Given the description of an element on the screen output the (x, y) to click on. 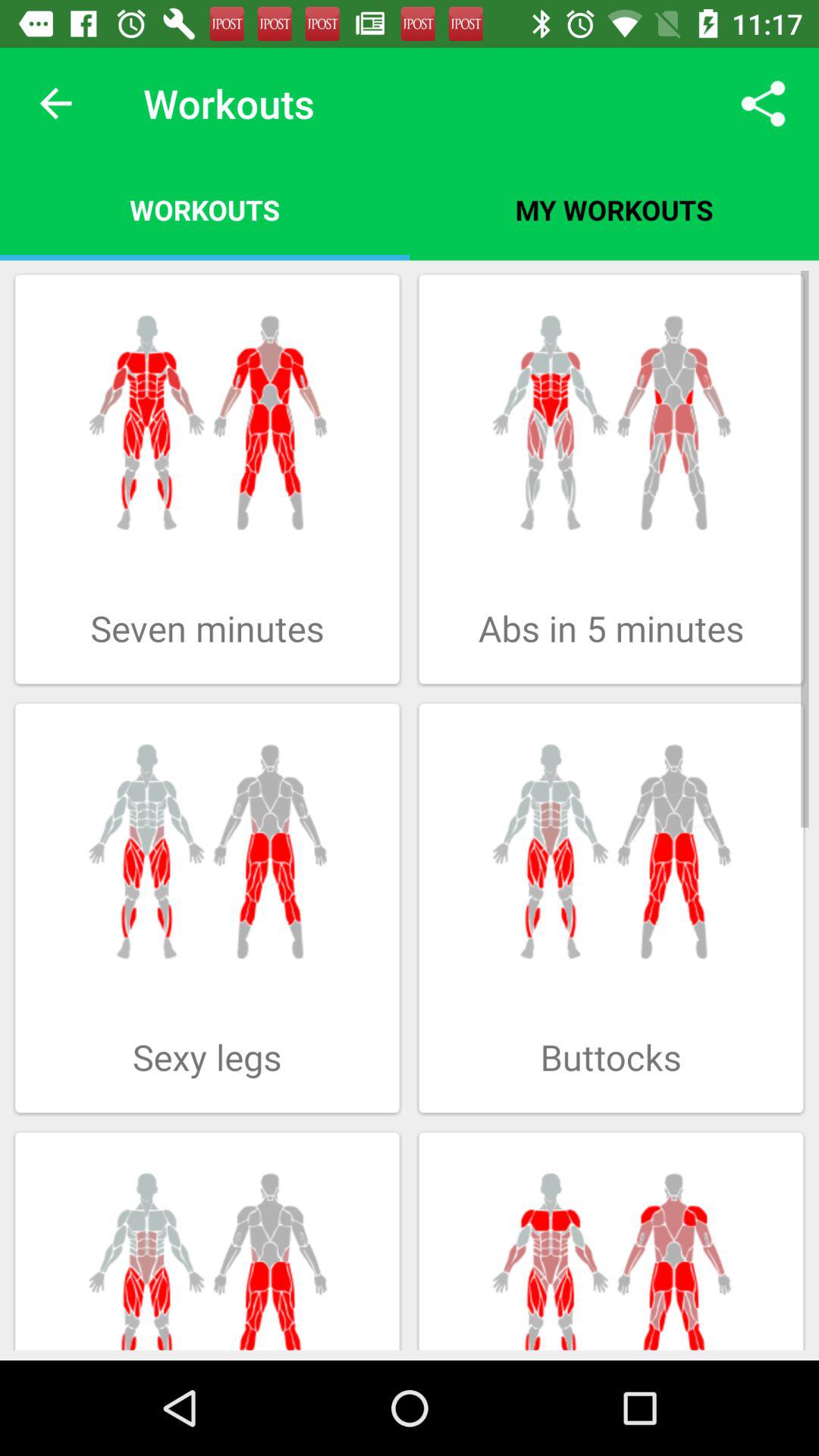
press app to the right of the workouts (763, 103)
